Given the description of an element on the screen output the (x, y) to click on. 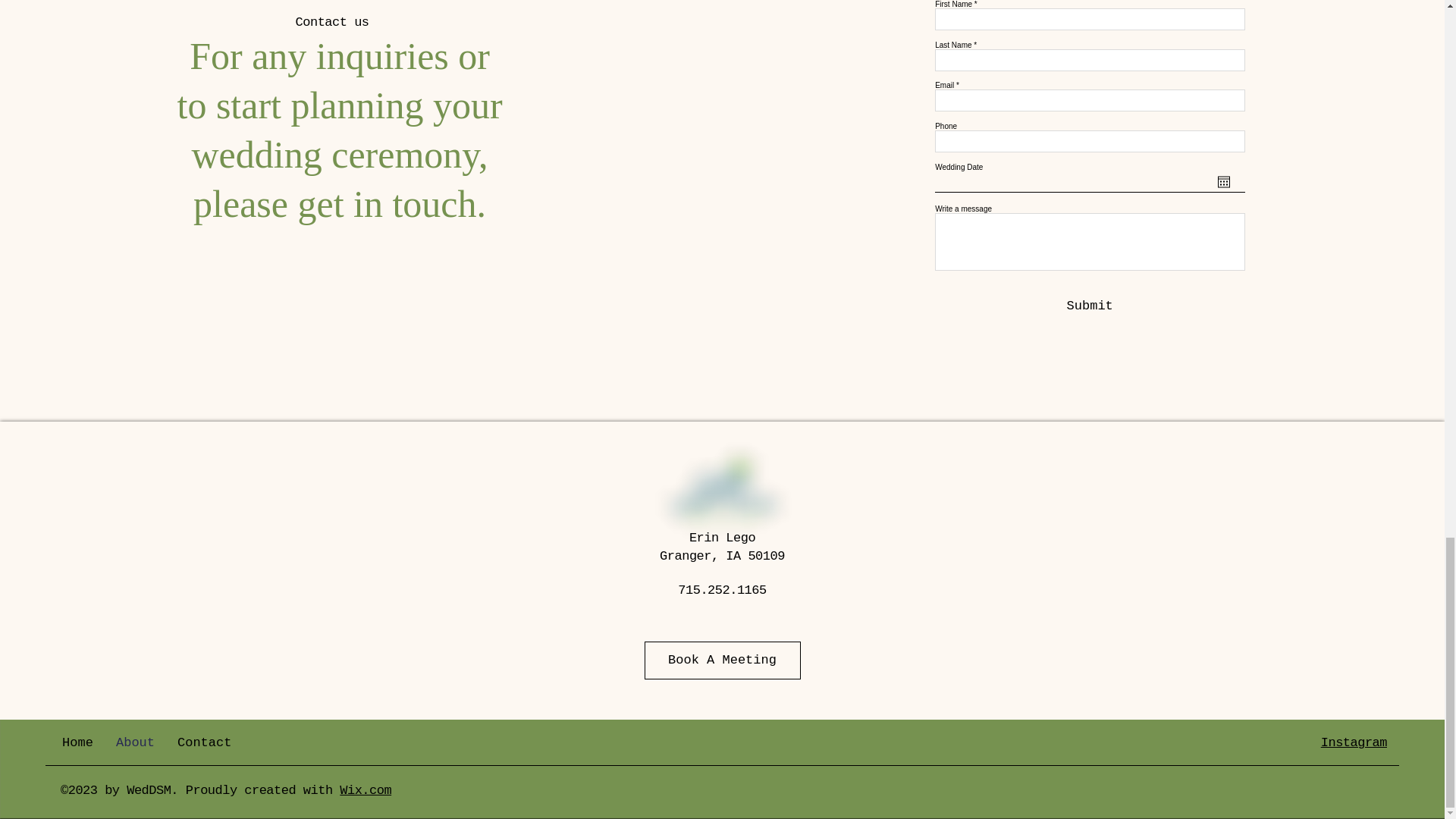
Book A Meeting (722, 660)
Home (77, 742)
Submit (1088, 306)
Instagram (1353, 742)
Contact (204, 742)
About (134, 742)
Wix.com (365, 789)
